Given the description of an element on the screen output the (x, y) to click on. 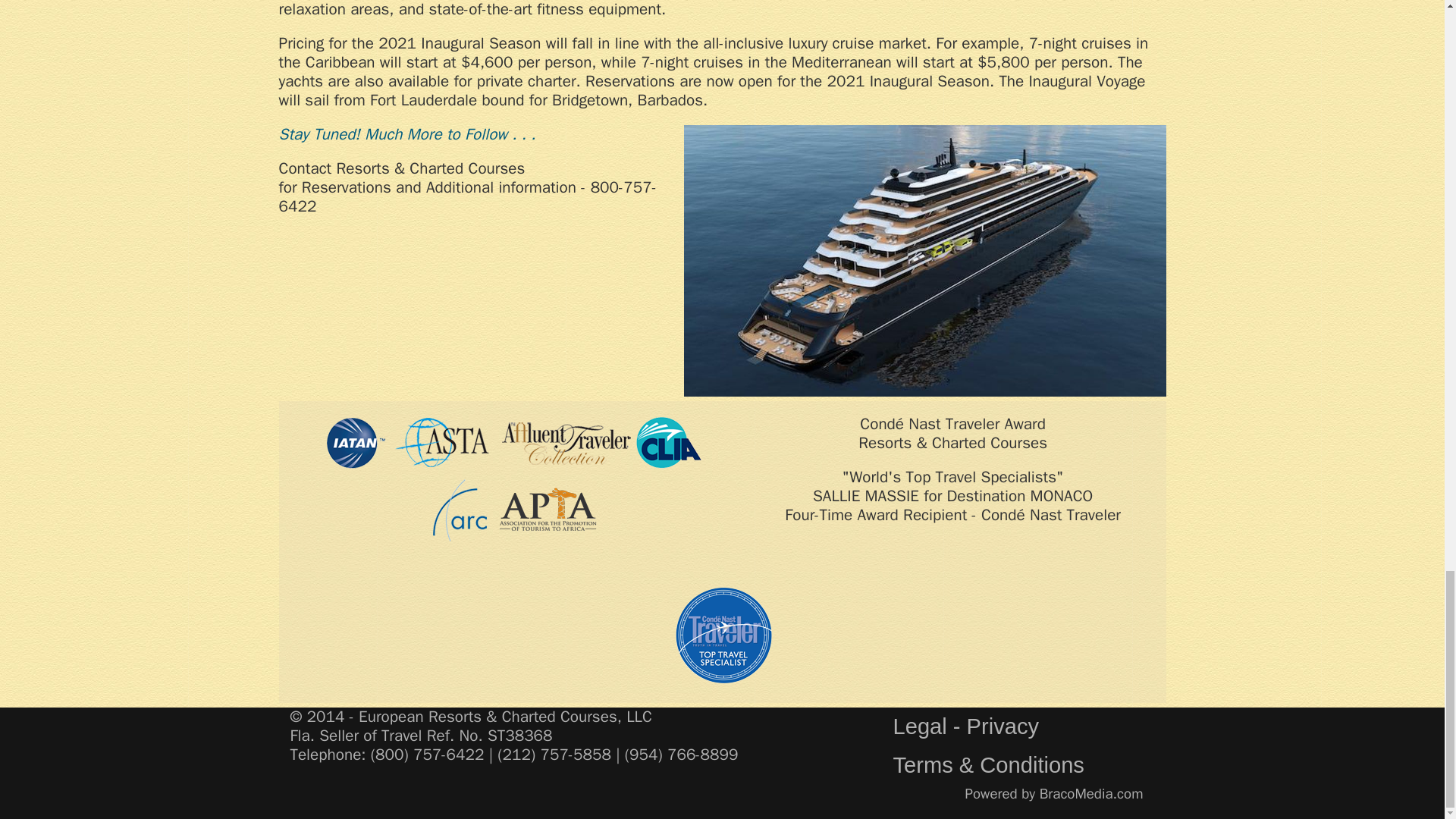
Legal - Privacy (964, 726)
